Given the description of an element on the screen output the (x, y) to click on. 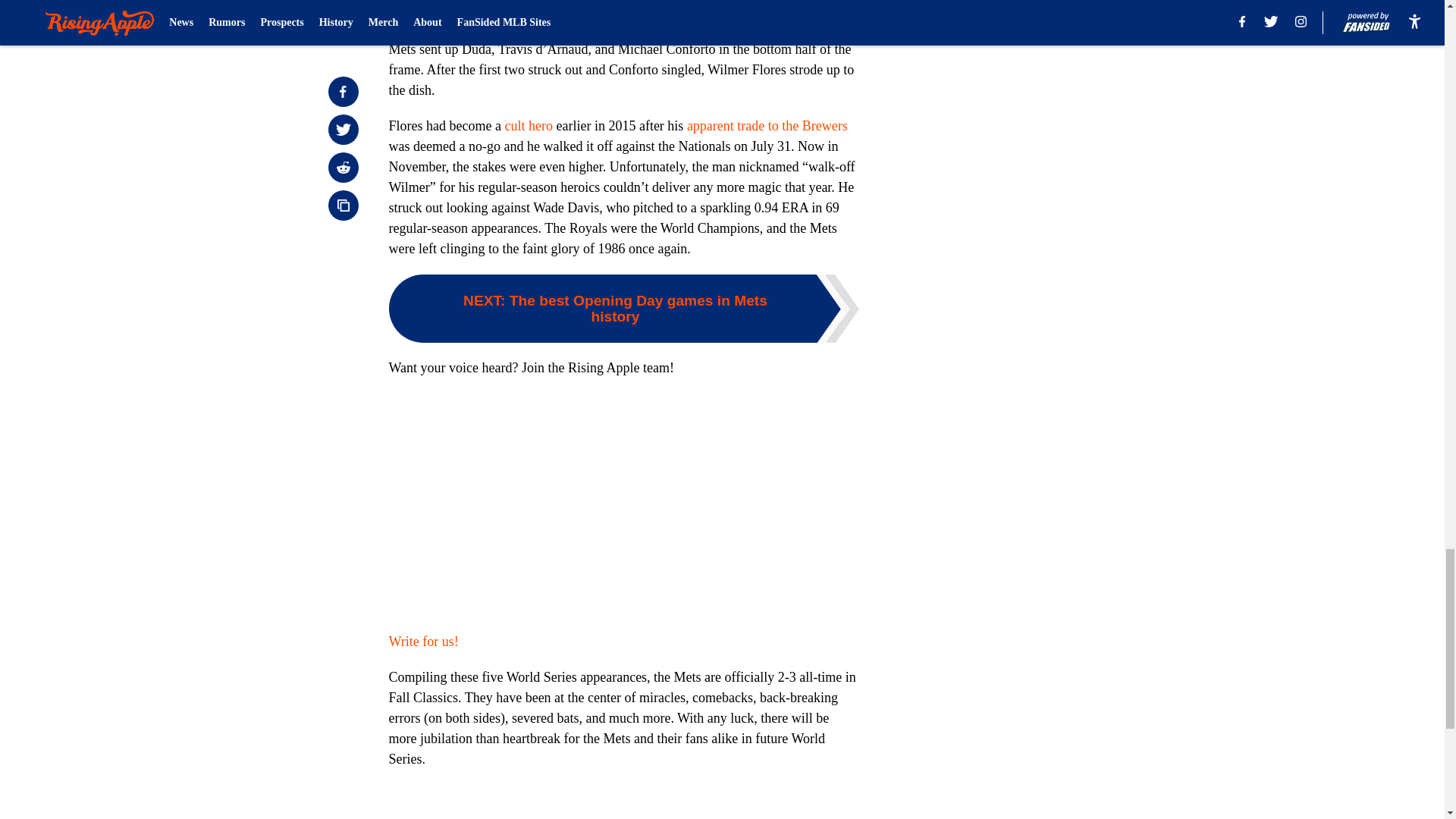
cult hero (527, 125)
apparent trade to the Brewers (767, 125)
NEXT: The best Opening Day games in Mets history (623, 308)
Write for us! (423, 641)
